Given the description of an element on the screen output the (x, y) to click on. 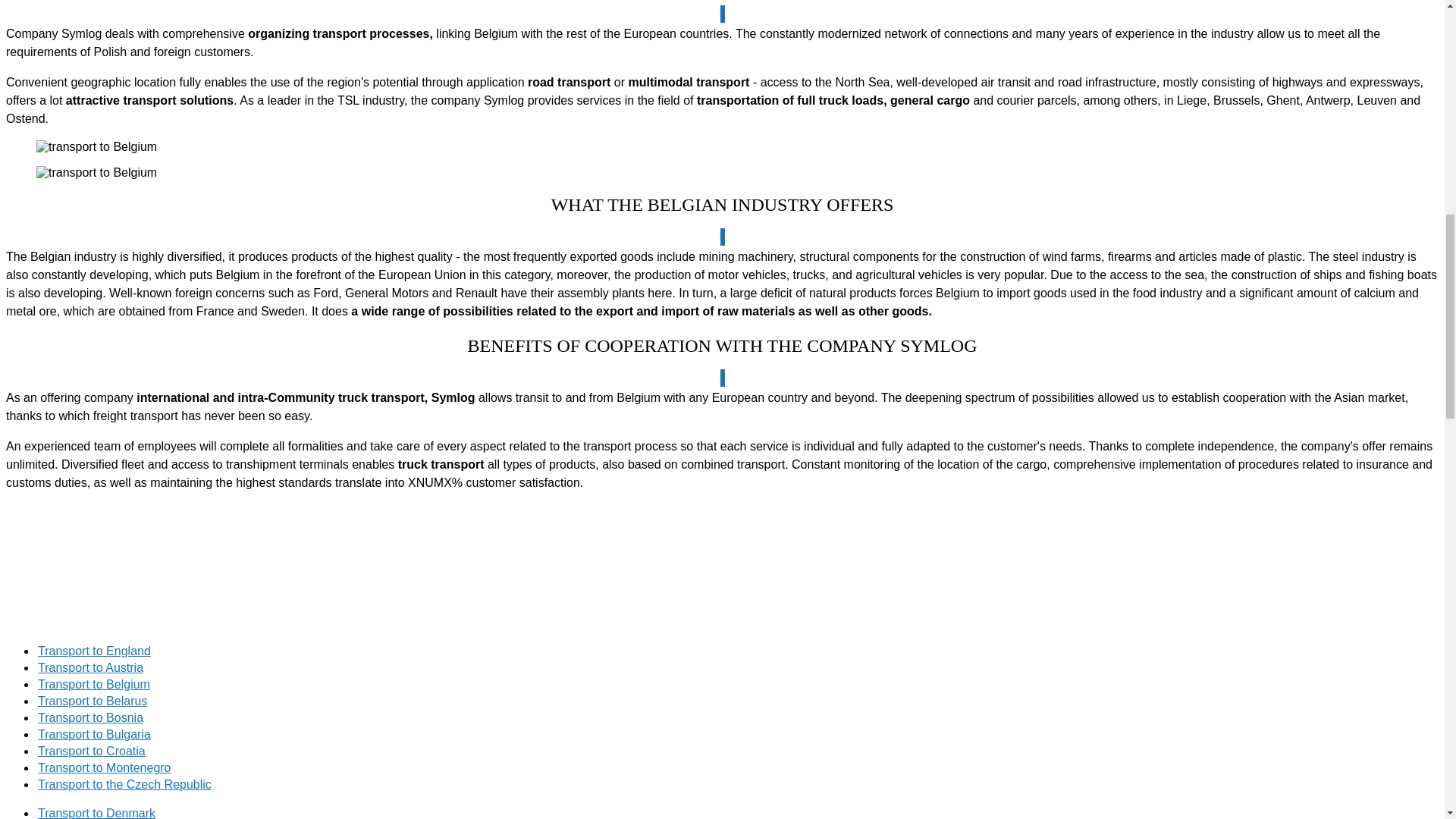
Transport to Belgium (93, 684)
Transport to Bosnia (89, 717)
Transport to Croatia (91, 750)
Transport to Montenegro (104, 767)
Transport to Austria (89, 667)
Transport to the Czech Republic (124, 784)
Transport to Belarus (92, 700)
Transport to Denmark (96, 812)
Transport to Bulgaria (94, 734)
Transport to England (94, 650)
